Given the description of an element on the screen output the (x, y) to click on. 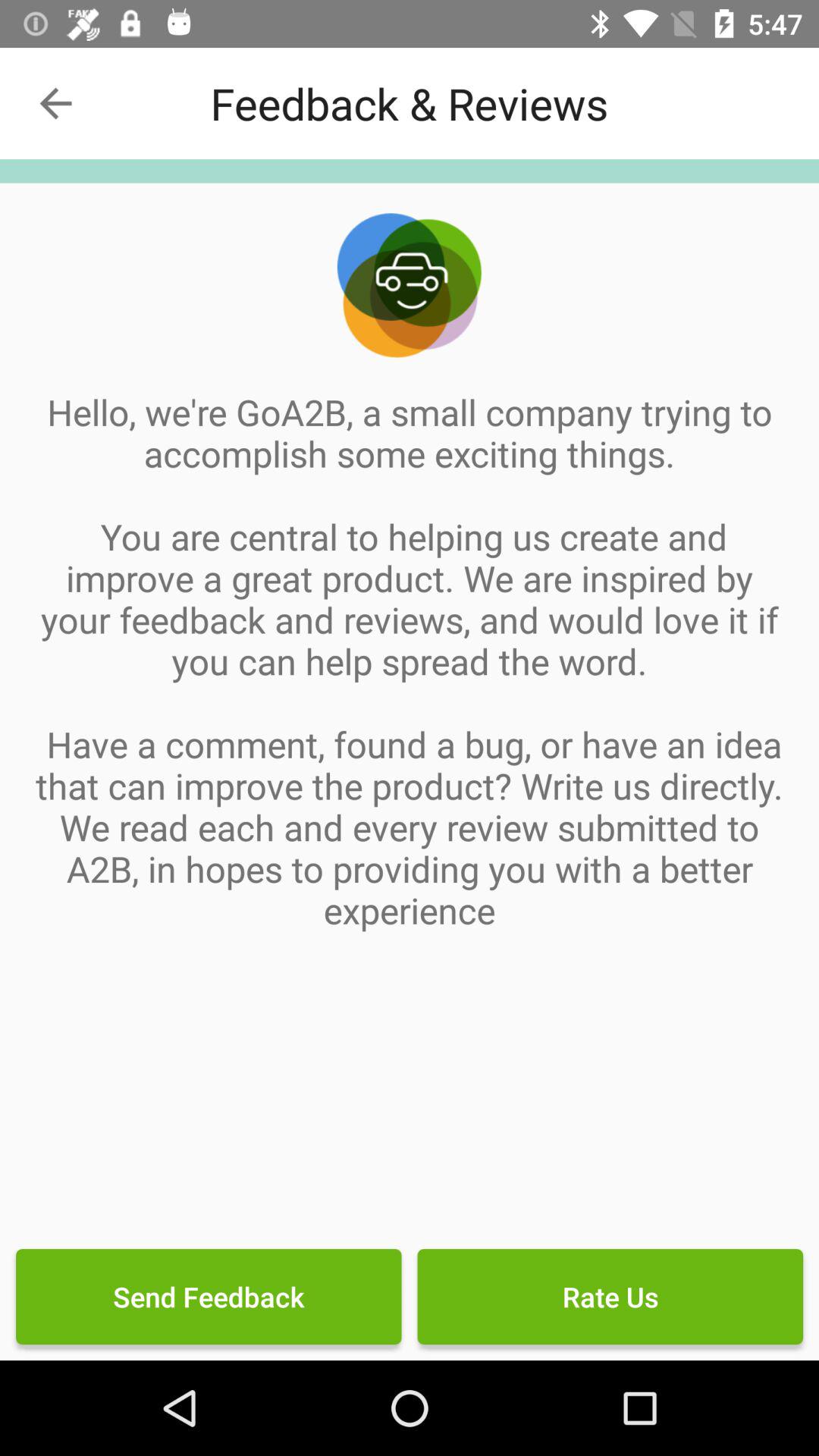
open the icon next to the send feedback icon (610, 1296)
